Given the description of an element on the screen output the (x, y) to click on. 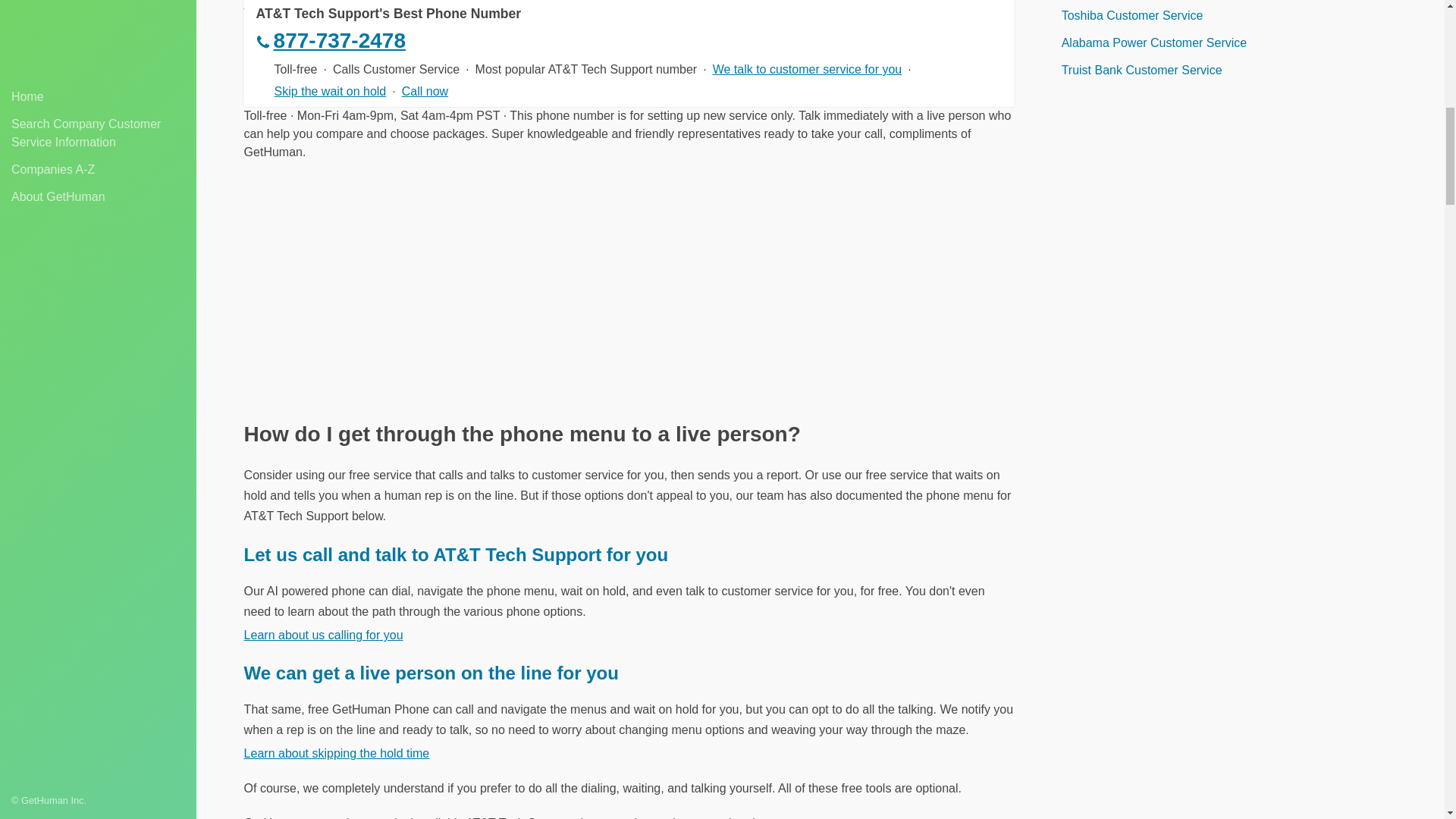
888-715-3291 (629, 90)
We can get a live person on the line for you (431, 672)
Learn about us calling for you (323, 634)
More details (277, 34)
Learn about skipping the hold time (336, 753)
